Given the description of an element on the screen output the (x, y) to click on. 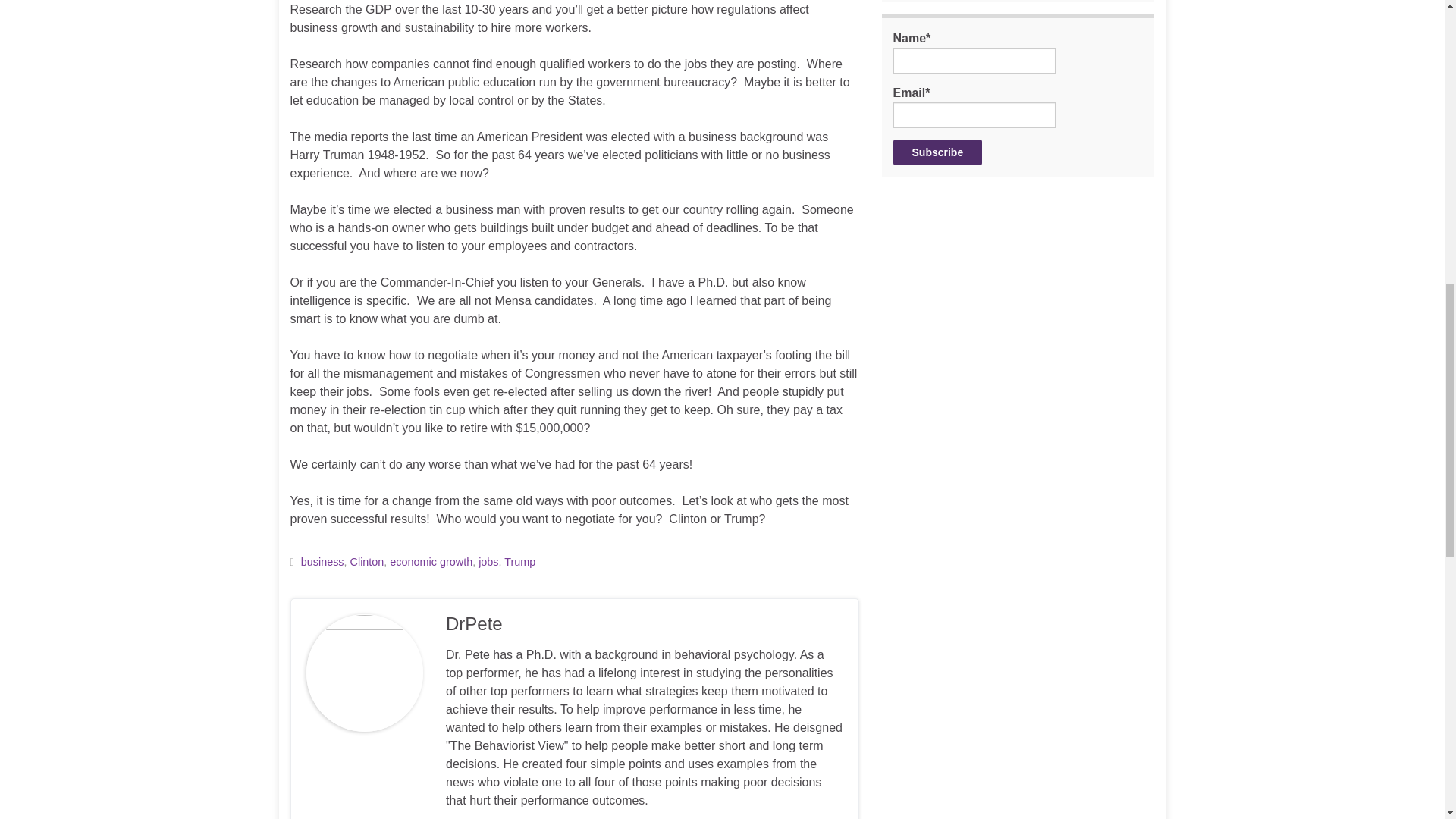
business (322, 562)
Subscribe (937, 152)
economic growth (430, 562)
Trump (519, 562)
Clinton (367, 562)
Subscribe (937, 152)
jobs (488, 562)
